Given the description of an element on the screen output the (x, y) to click on. 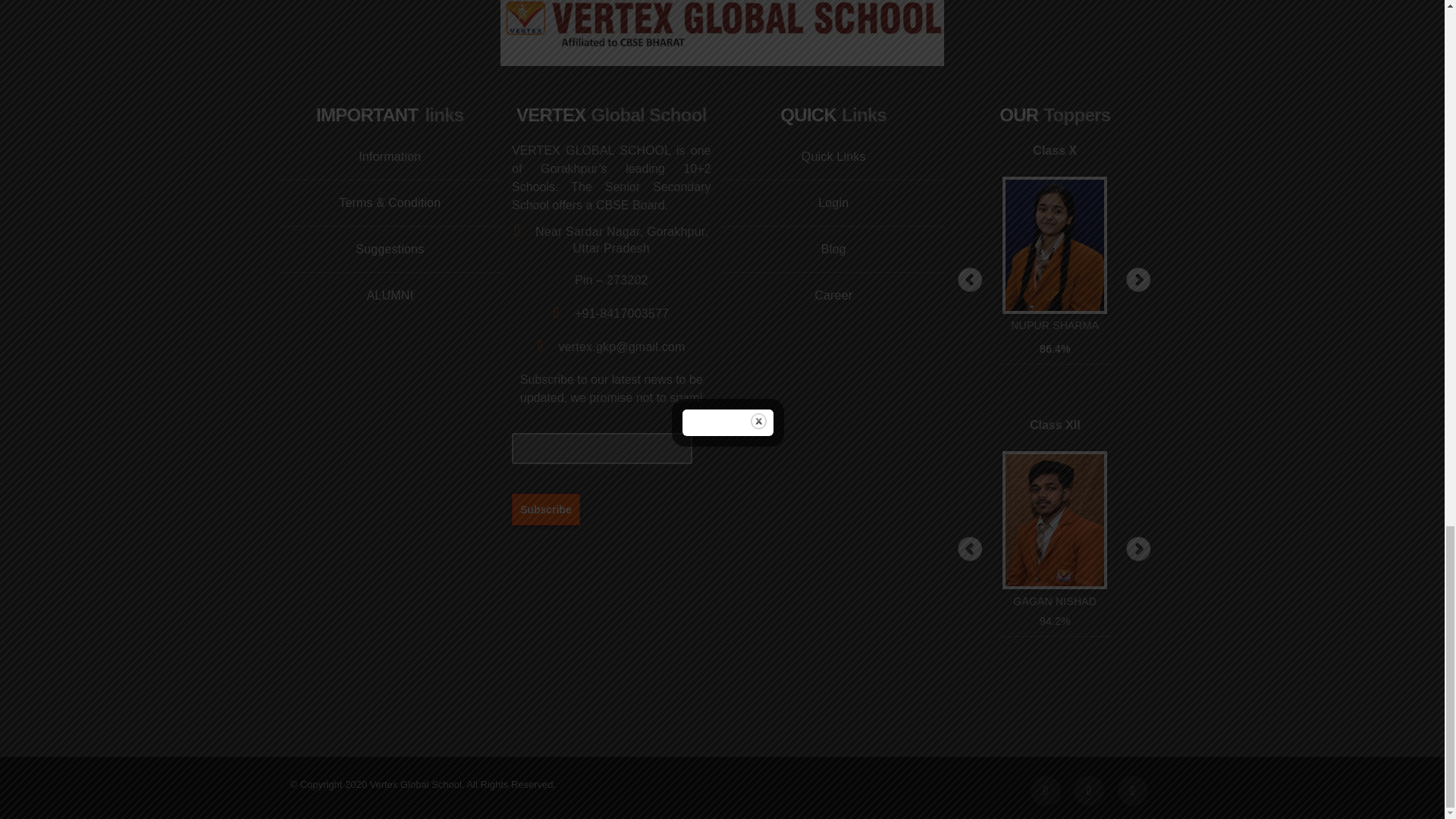
Subscribe (545, 508)
